Given the description of an element on the screen output the (x, y) to click on. 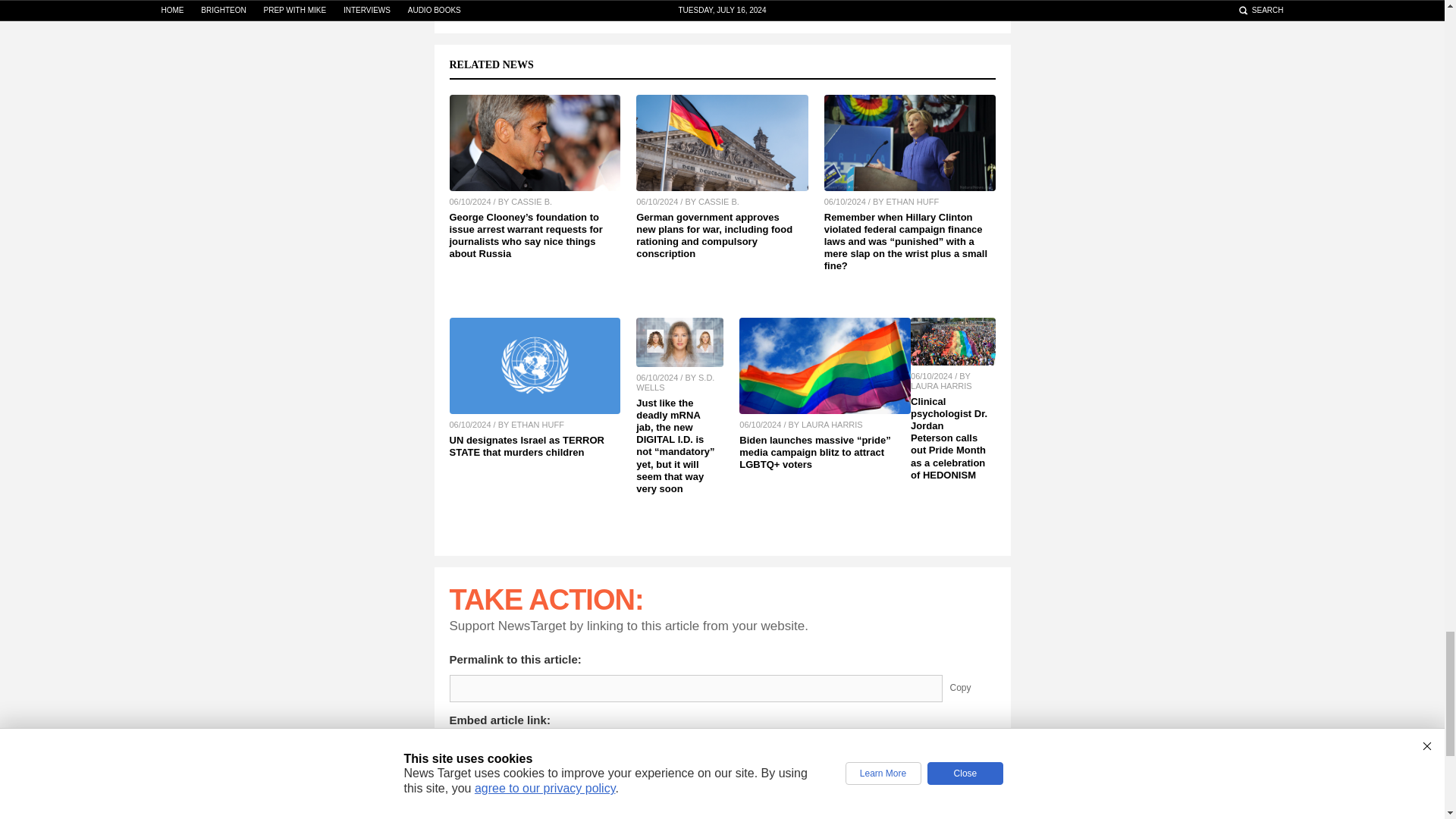
Copy Permalink (971, 687)
Copy Embed Link (971, 748)
